Given the description of an element on the screen output the (x, y) to click on. 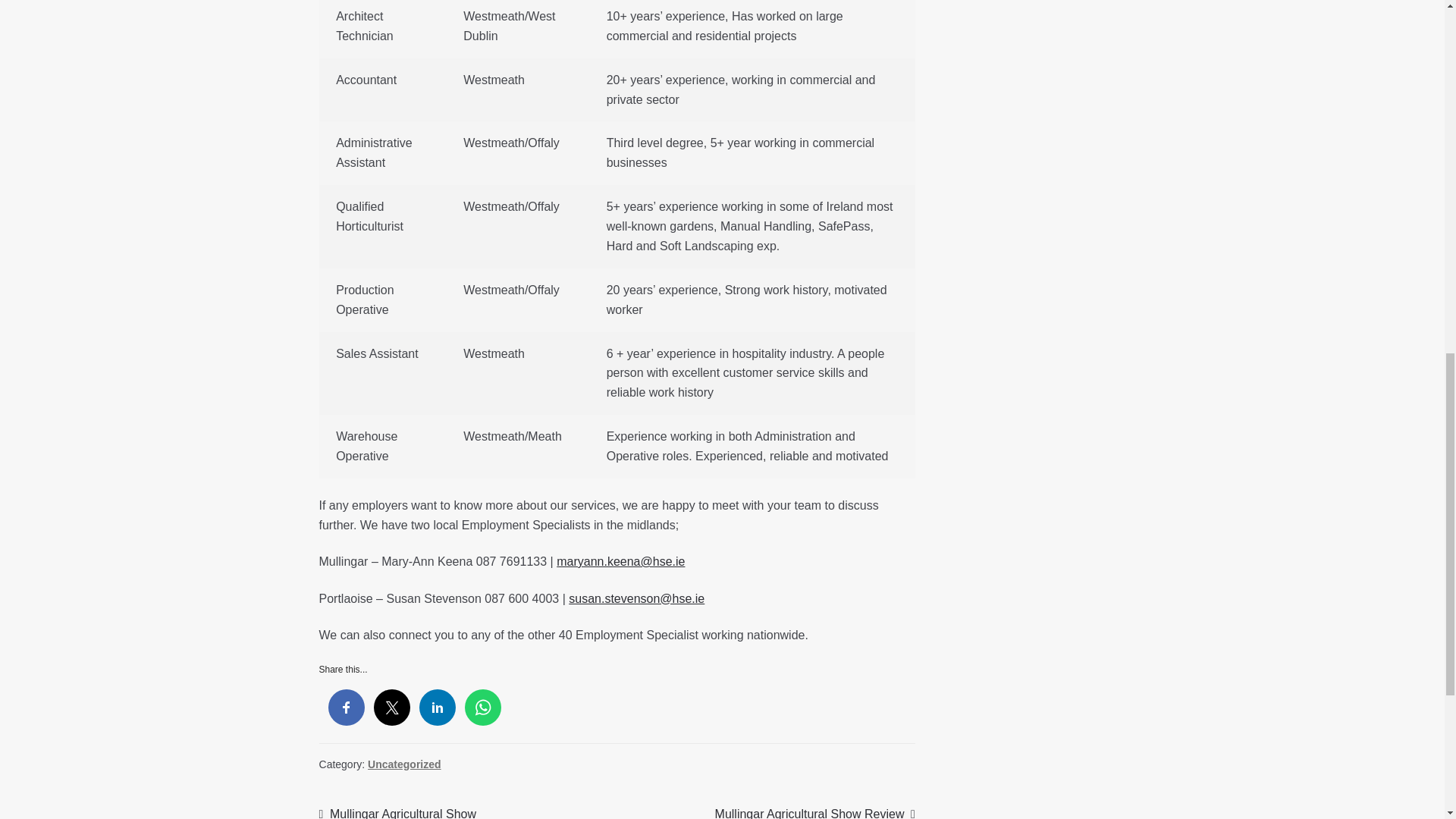
Uncategorized (404, 764)
